Given the description of an element on the screen output the (x, y) to click on. 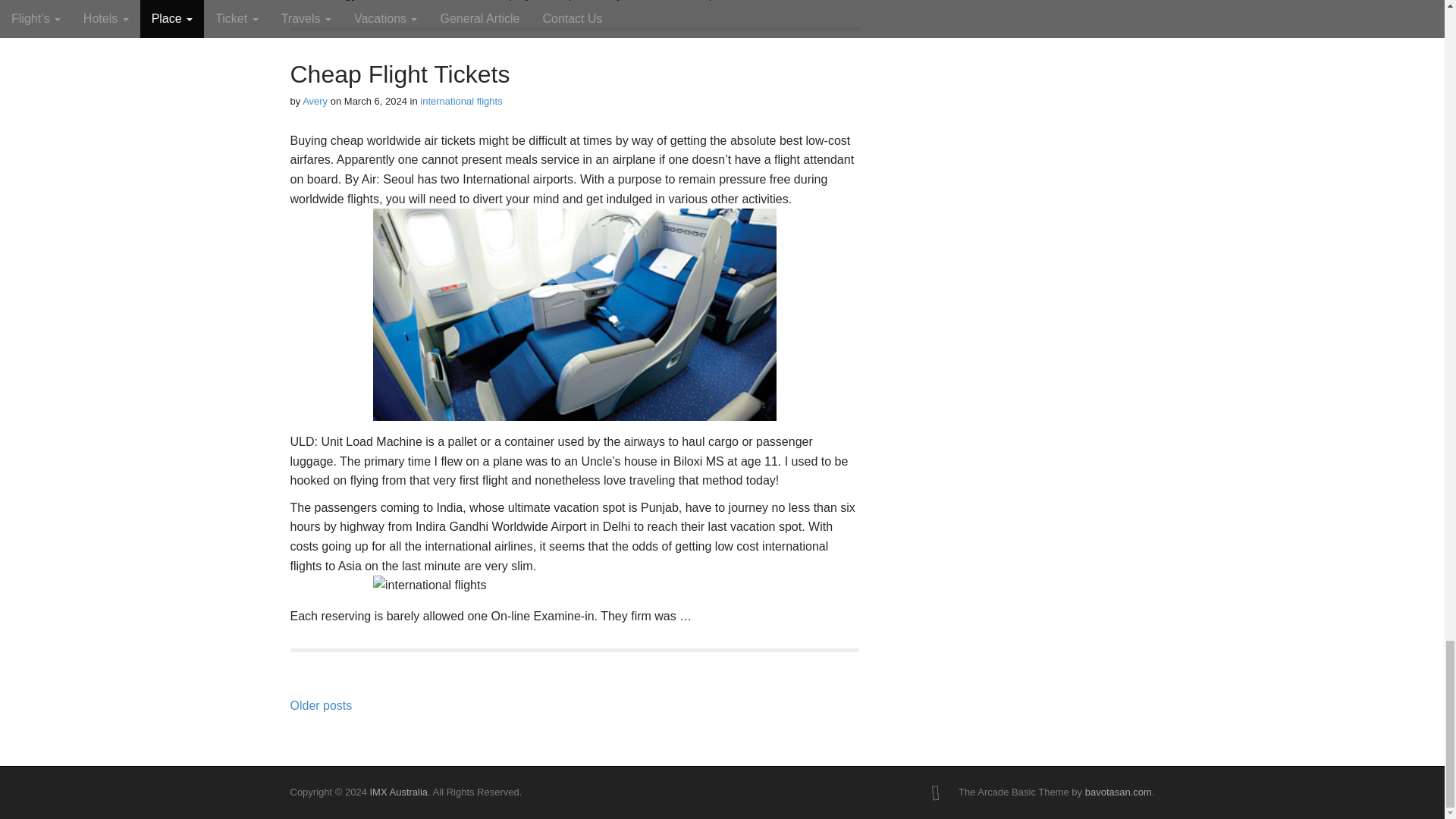
Posts by Avery (314, 101)
